Given the description of an element on the screen output the (x, y) to click on. 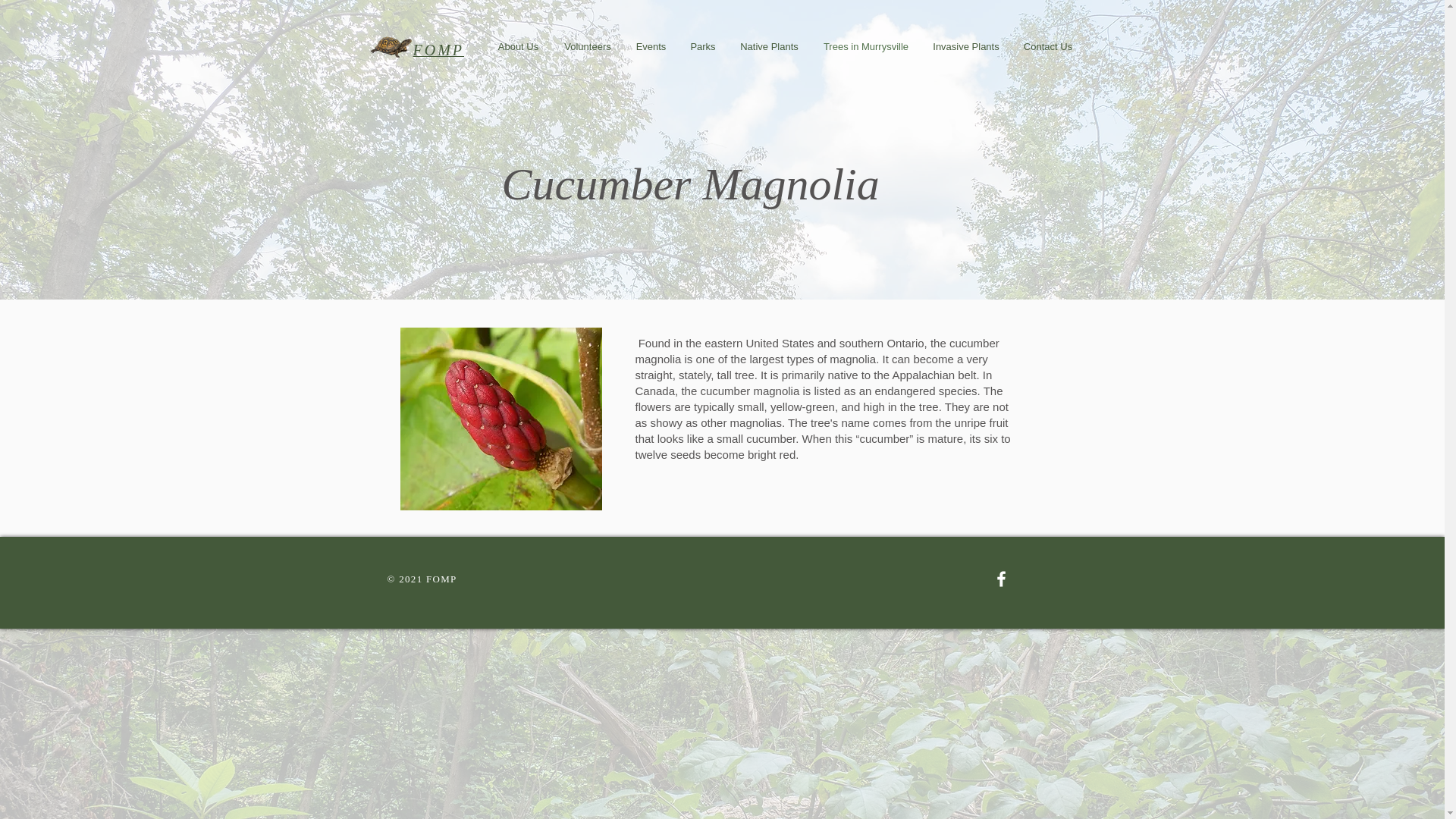
Events (650, 46)
About Us (517, 46)
FOMP (438, 49)
Parks (702, 46)
Volunteers (587, 46)
Native Plants (769, 46)
Trees in Murrysville (865, 46)
